Given the description of an element on the screen output the (x, y) to click on. 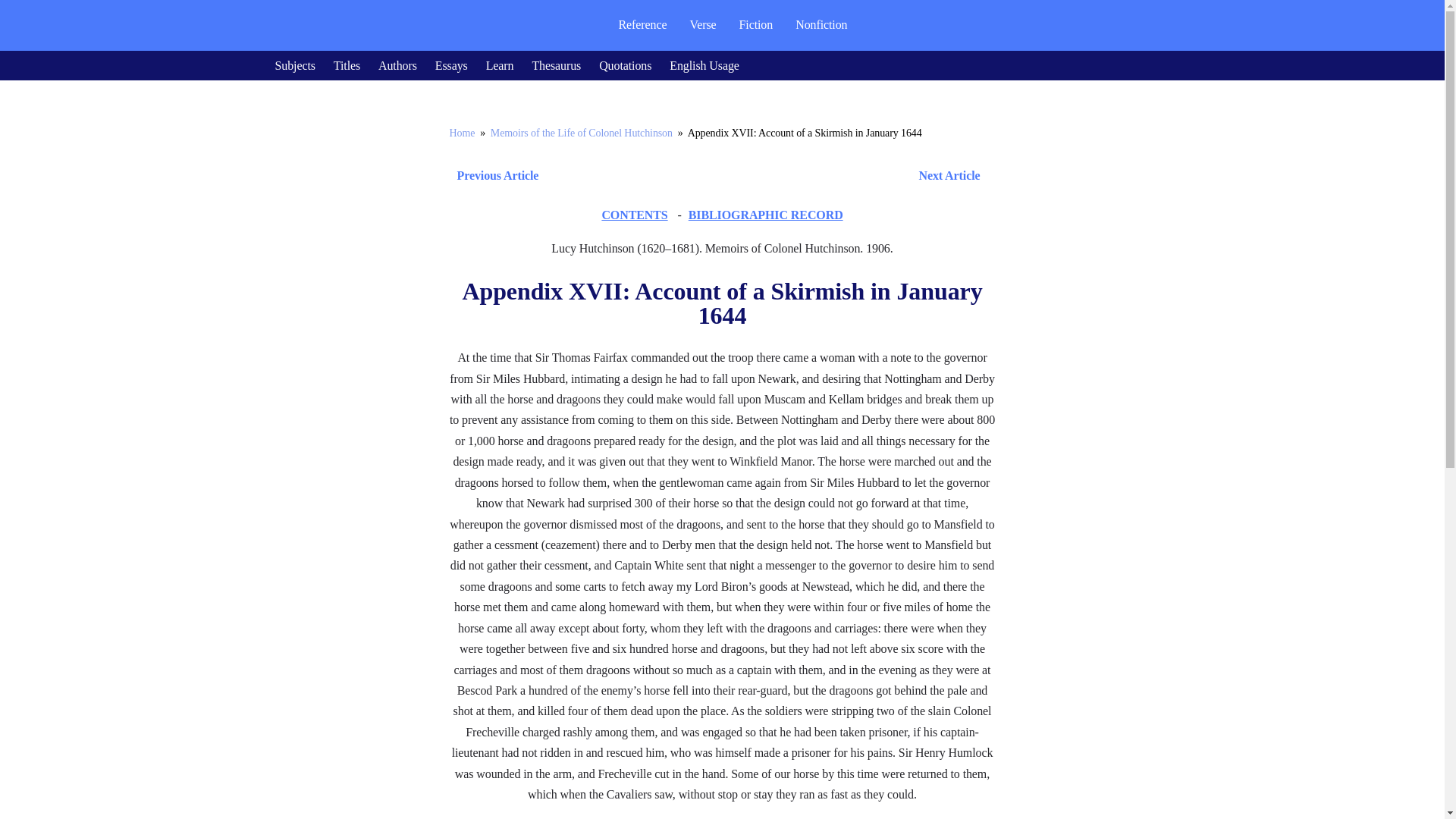
Nonfiction (821, 24)
Verse (702, 24)
Authors (397, 65)
Reference (642, 24)
English Usage (704, 65)
Memoirs of the Life of Colonel Hutchinson (581, 132)
Fiction (756, 24)
BIBLIOGRAPHIC RECORD (765, 214)
Quotations (624, 65)
Home (461, 132)
